Given the description of an element on the screen output the (x, y) to click on. 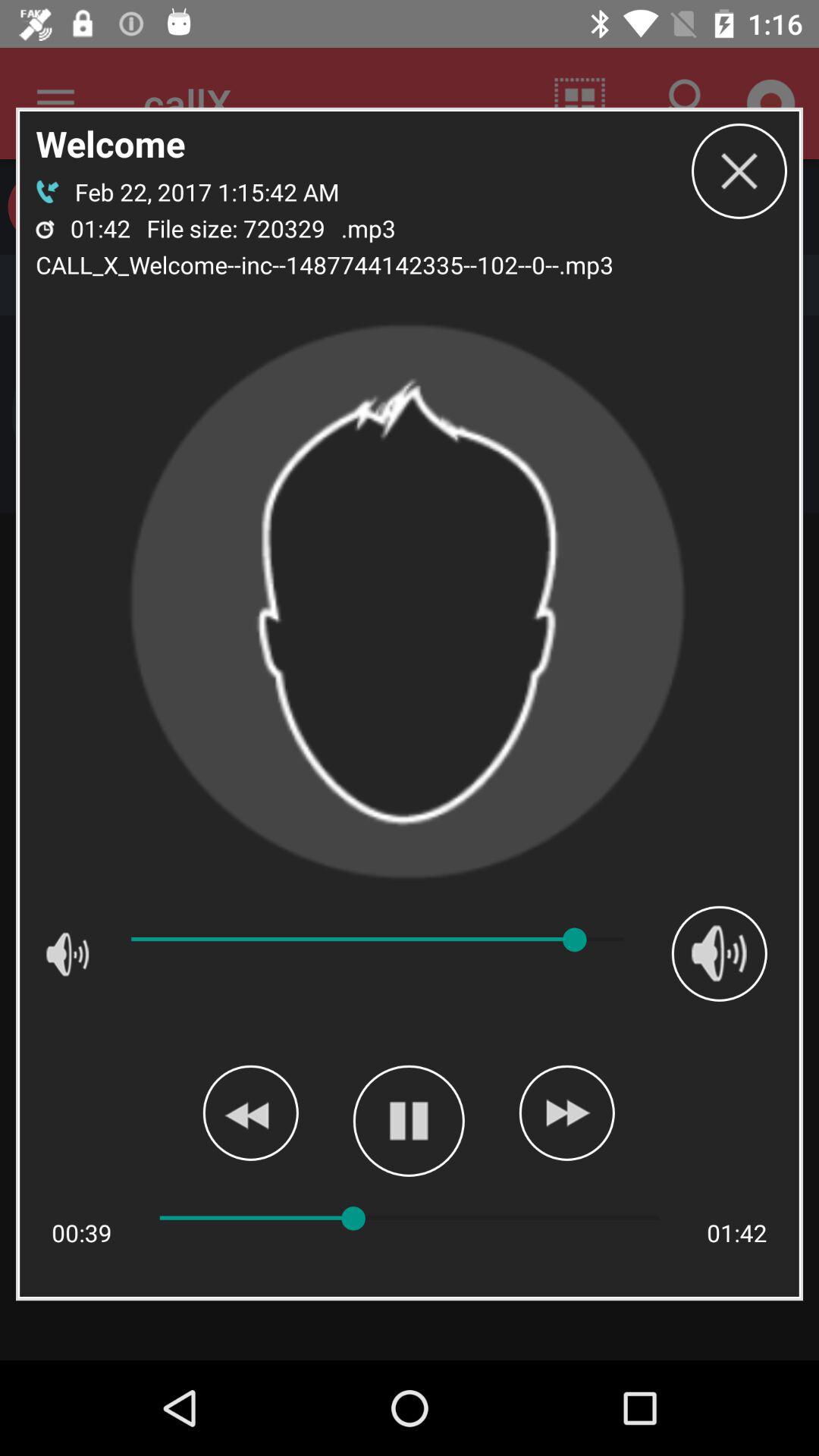
tap the item at the top right corner (739, 170)
